Given the description of an element on the screen output the (x, y) to click on. 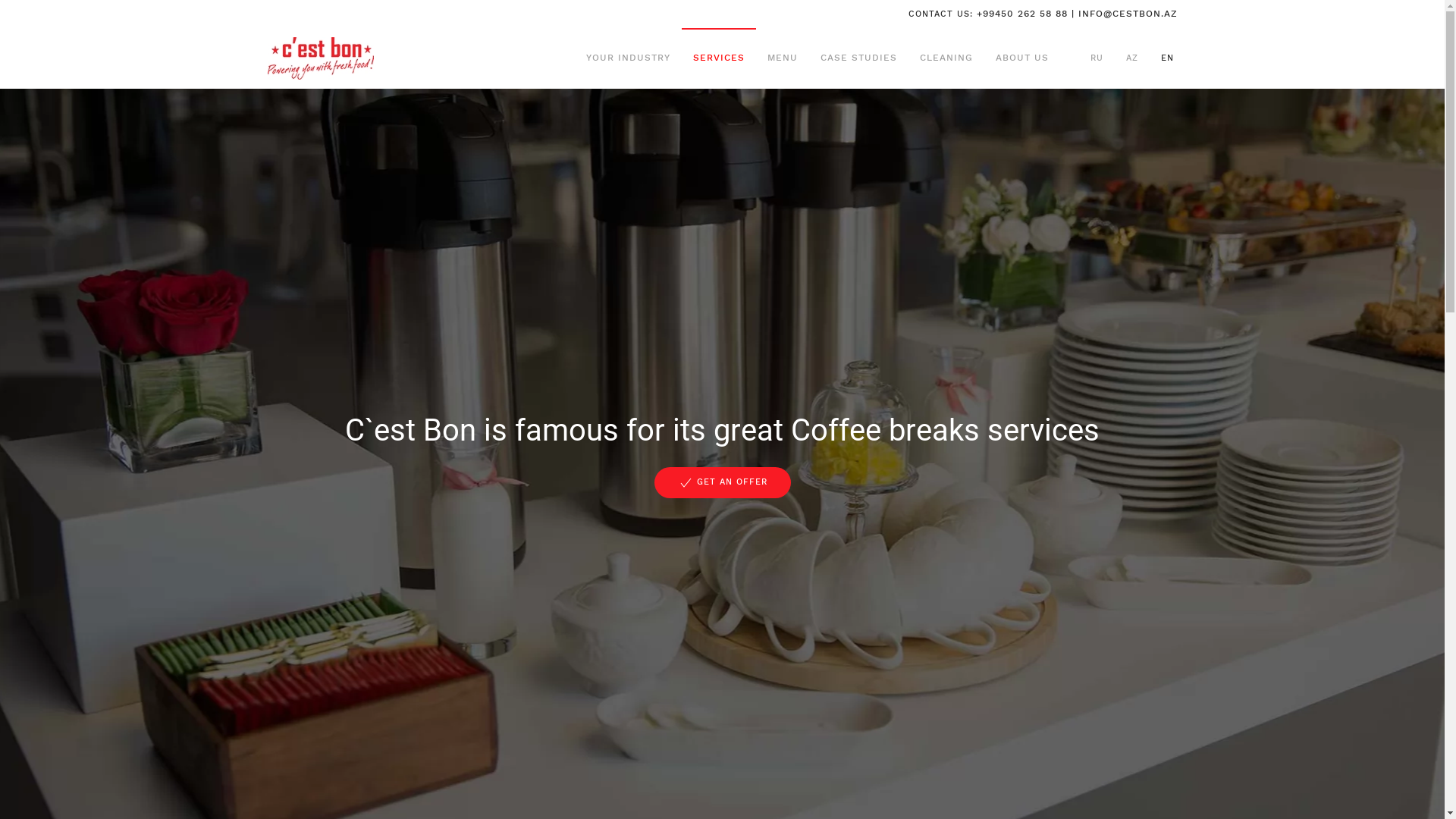
CASE STUDIES Element type: text (857, 58)
YOUR INDUSTRY Element type: text (627, 58)
SERVICES Element type: text (717, 58)
AZ Element type: text (1131, 58)
MENU Element type: text (781, 58)
EN Element type: text (1166, 58)
ABOUT US Element type: text (1022, 58)
CLEANING Element type: text (946, 58)
RU Element type: text (1096, 58)
GET AN OFFER Element type: text (721, 482)
